Given the description of an element on the screen output the (x, y) to click on. 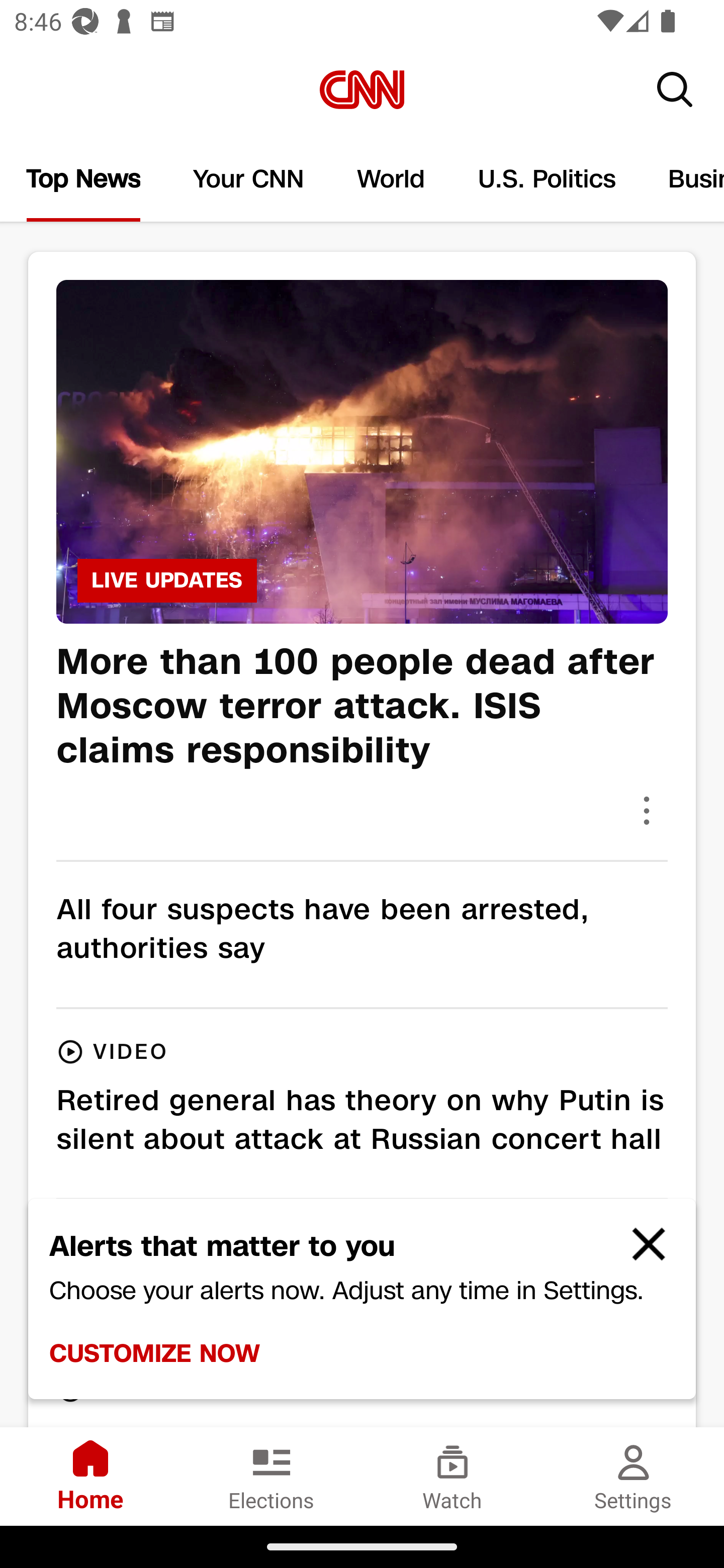
Your CNN (248, 179)
World (390, 179)
U.S. Politics (546, 179)
More actions (646, 810)
close (639, 1251)
Elections (271, 1475)
Watch (452, 1475)
Settings (633, 1475)
